Given the description of an element on the screen output the (x, y) to click on. 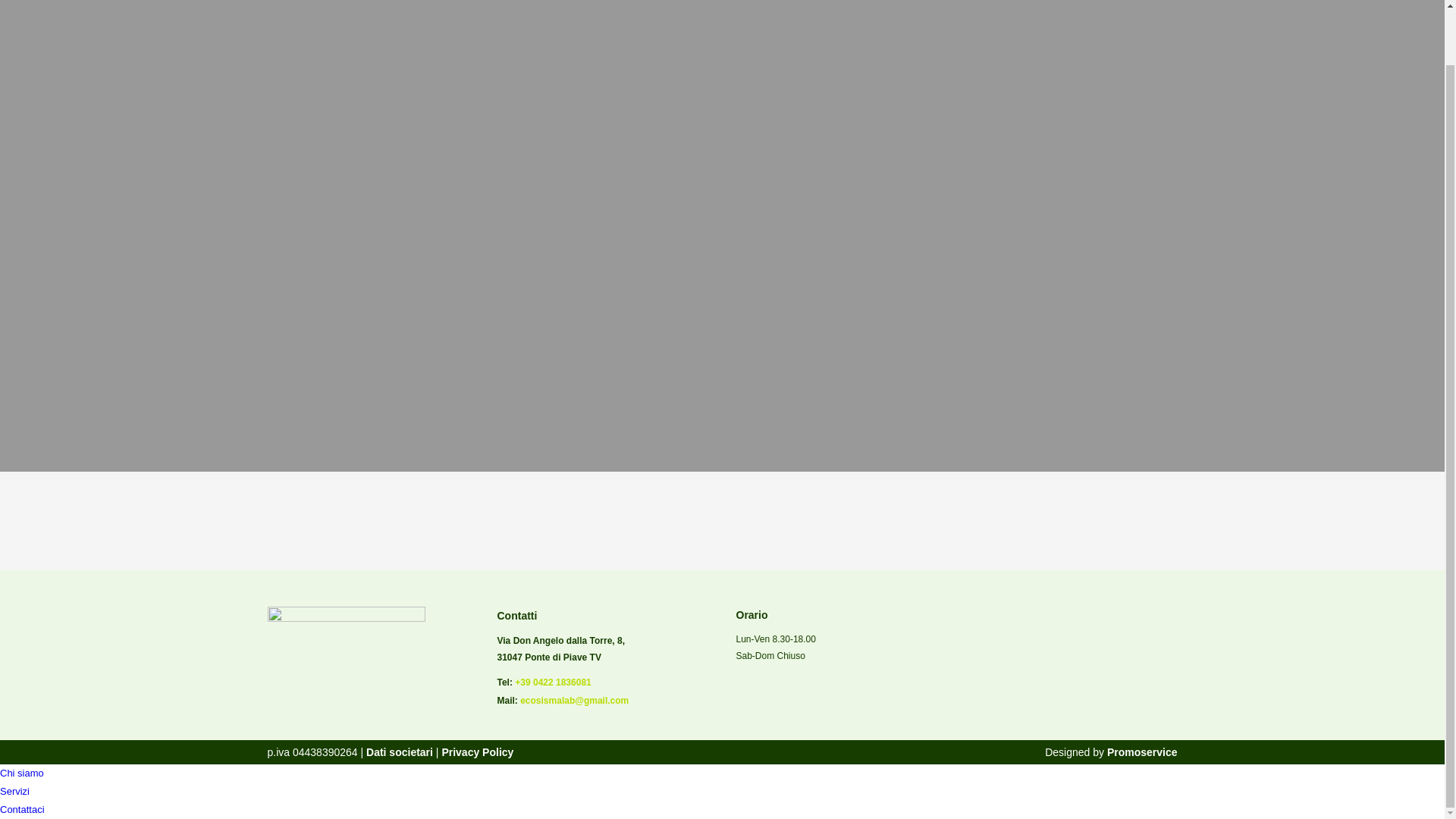
Privacy Policy (477, 752)
Chi siamo (21, 772)
Promoservice (1141, 752)
Contattaci (22, 808)
Dati societari (397, 752)
Servizi (14, 790)
